Given the description of an element on the screen output the (x, y) to click on. 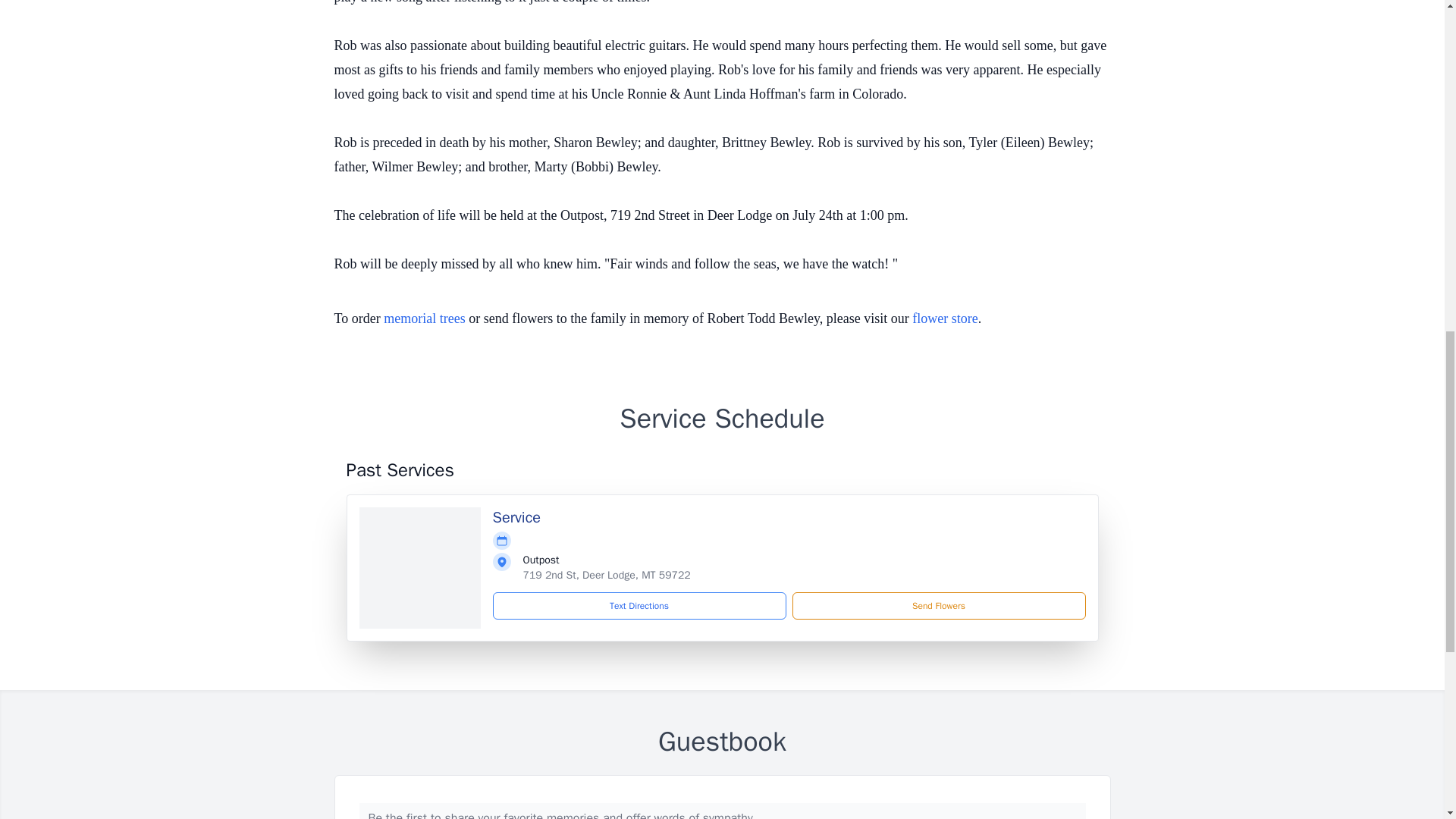
flower store (944, 318)
memorial trees (424, 318)
719 2nd St, Deer Lodge, MT 59722 (606, 574)
Send Flowers (938, 605)
Text Directions (639, 605)
